Given the description of an element on the screen output the (x, y) to click on. 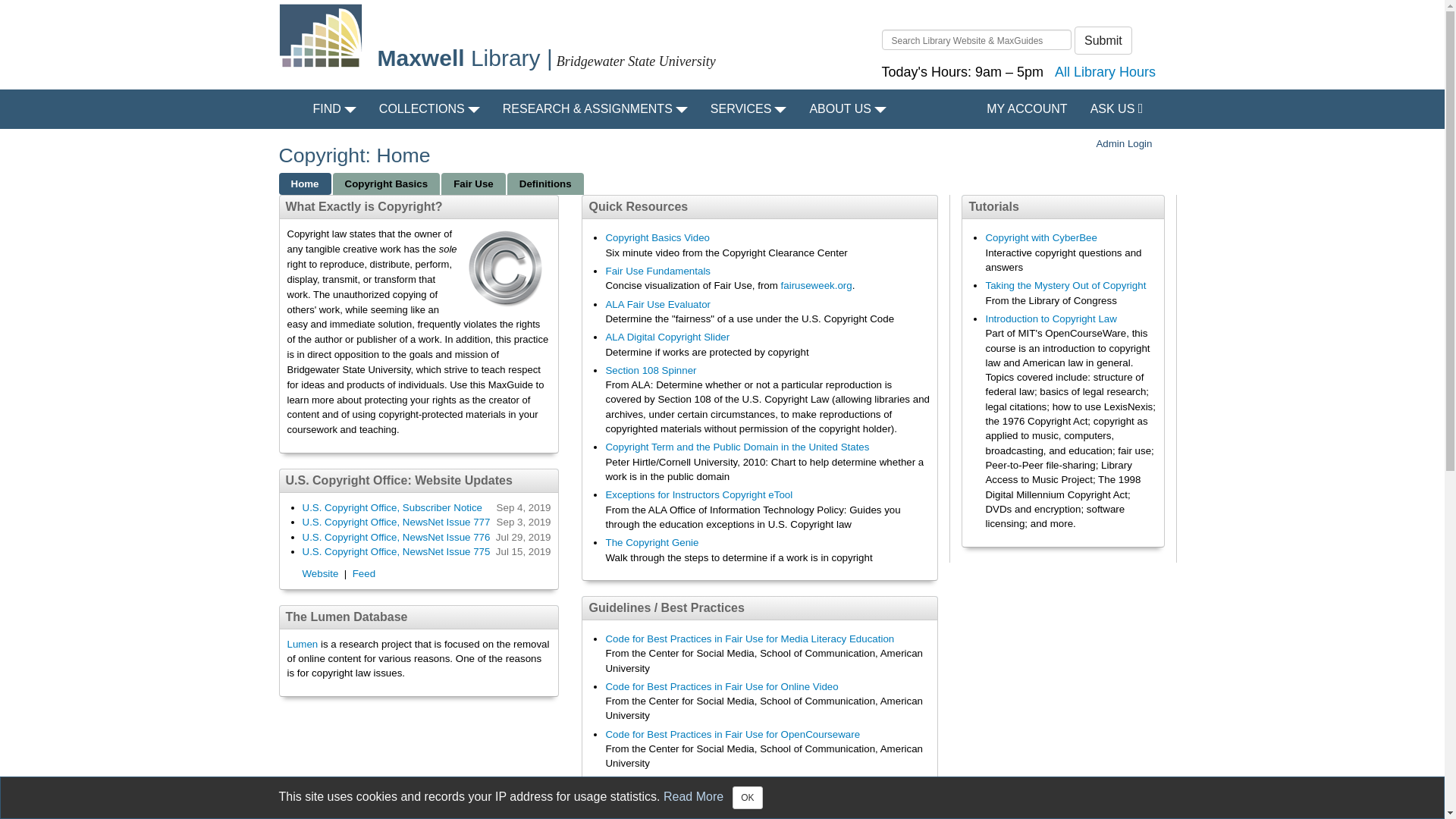
Read More (693, 796)
Submit (1103, 40)
All Library Hours (1105, 75)
Bridgewater State University (636, 61)
OK (746, 797)
COLLECTIONS (430, 108)
FIND (334, 108)
